Given the description of an element on the screen output the (x, y) to click on. 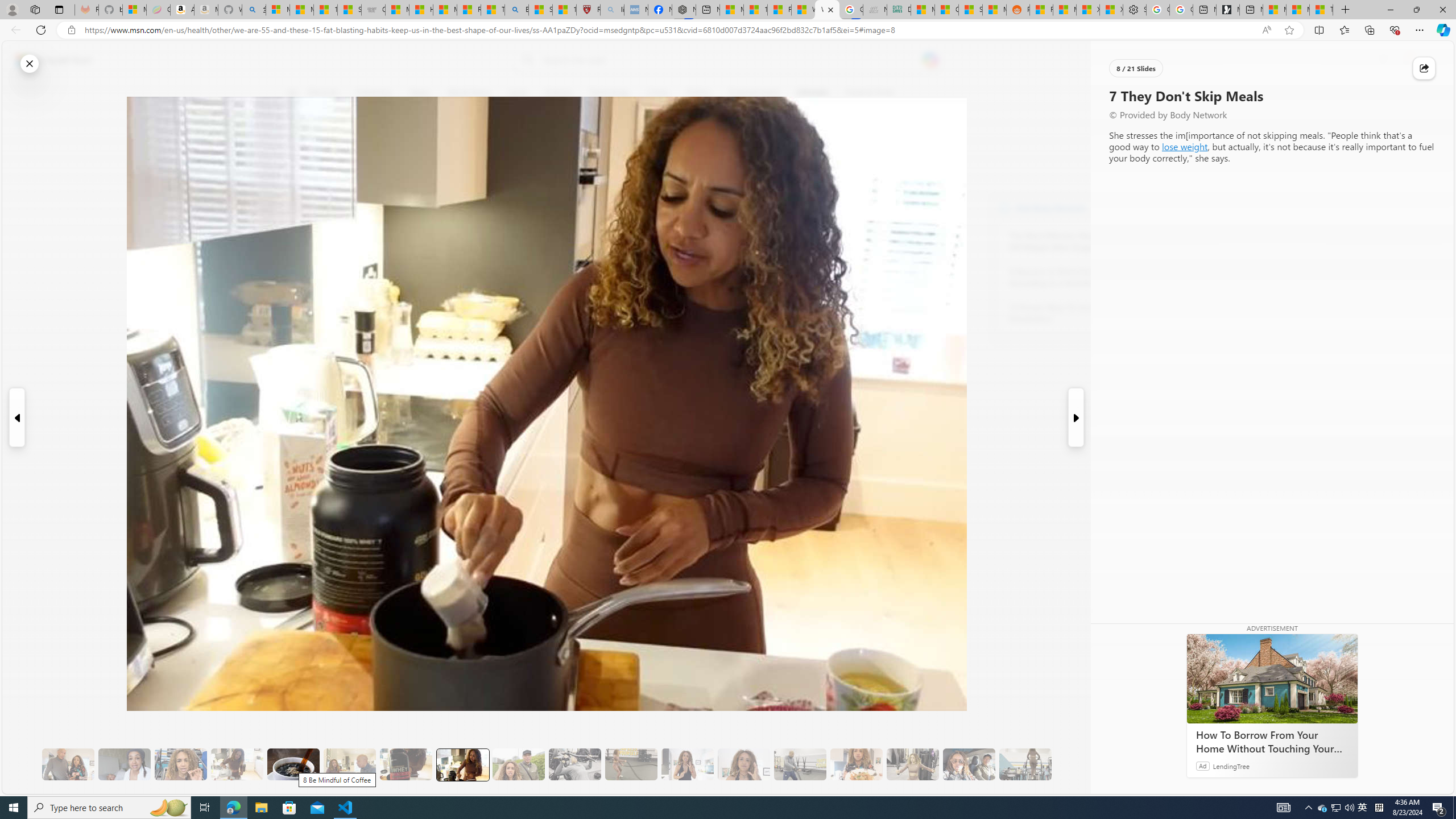
How I Got Rid of Microsoft Edge's Unnecessary Features (421, 9)
1 We Eat a Protein-Packed Pre-Workout Snack (124, 764)
See more (1149, 785)
Technology (608, 92)
3 They Drink Lemon Tea (237, 764)
Minimize (1390, 9)
Restore (1416, 9)
lose weight (1184, 146)
Bing (515, 9)
Discover (322, 92)
Follow (518, 146)
Microsoft account | Privacy (277, 9)
Open Copilot (930, 59)
World News (468, 92)
